Given the description of an element on the screen output the (x, y) to click on. 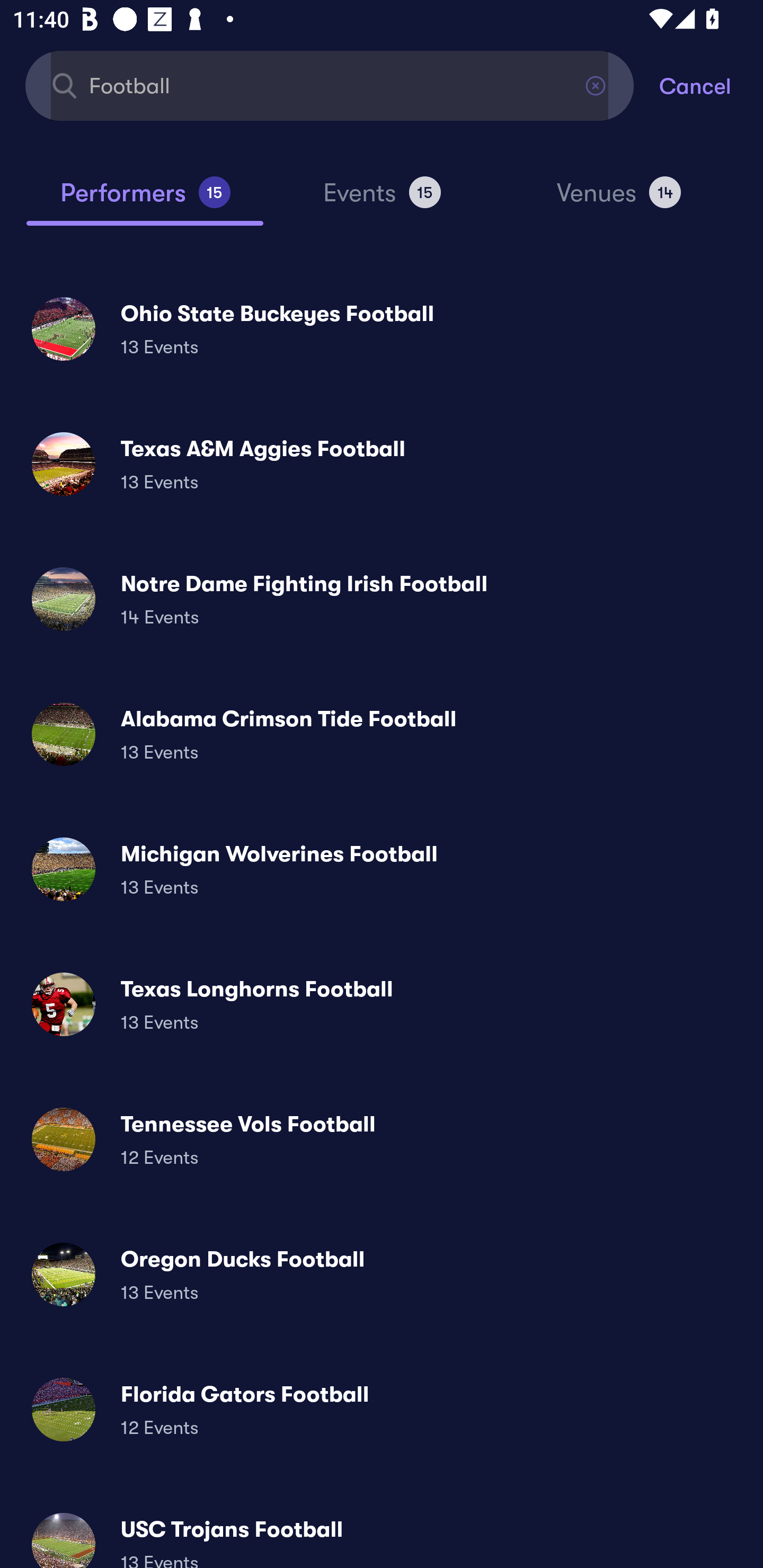
Football Find (329, 85)
Football Find (329, 85)
Cancel (711, 85)
Performers 15 (144, 200)
Events 15 (381, 200)
Venues 14 (618, 200)
Ohio State Buckeyes Football 13 Events (381, 328)
Texas A&M Aggies Football 13 Events (381, 464)
Notre Dame Fighting Irish Football 14 Events (381, 598)
Alabama Crimson Tide Football 13 Events (381, 734)
Michigan Wolverines Football 13 Events (381, 869)
Texas Longhorns Football 13 Events (381, 1004)
Tennessee Vols Football 12 Events (381, 1138)
Oregon Ducks Football 13 Events (381, 1273)
Florida Gators Football 12 Events (381, 1409)
USC Trojans Football 13 Events (381, 1532)
